Given the description of an element on the screen output the (x, y) to click on. 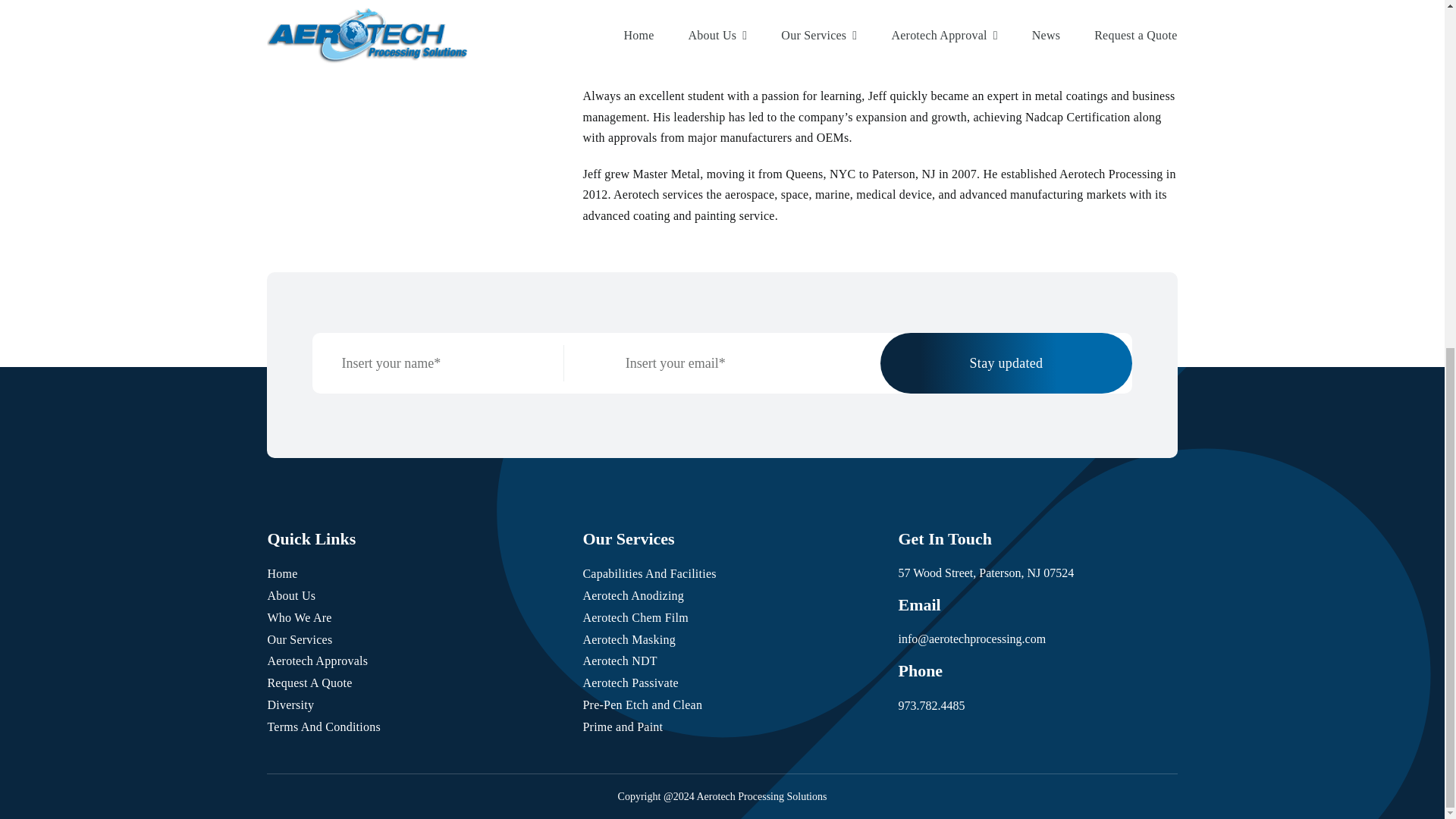
Terms And Conditions (323, 726)
Headshots-Jeff (406, 9)
Capabilities And Facilities (649, 573)
Aerotech Approvals (317, 660)
Who We Are (298, 617)
Our Services (298, 639)
Home (281, 573)
Stay updated (1005, 362)
Aerotech Anodizing (633, 594)
Aerotech Chem Film (634, 617)
